Given the description of an element on the screen output the (x, y) to click on. 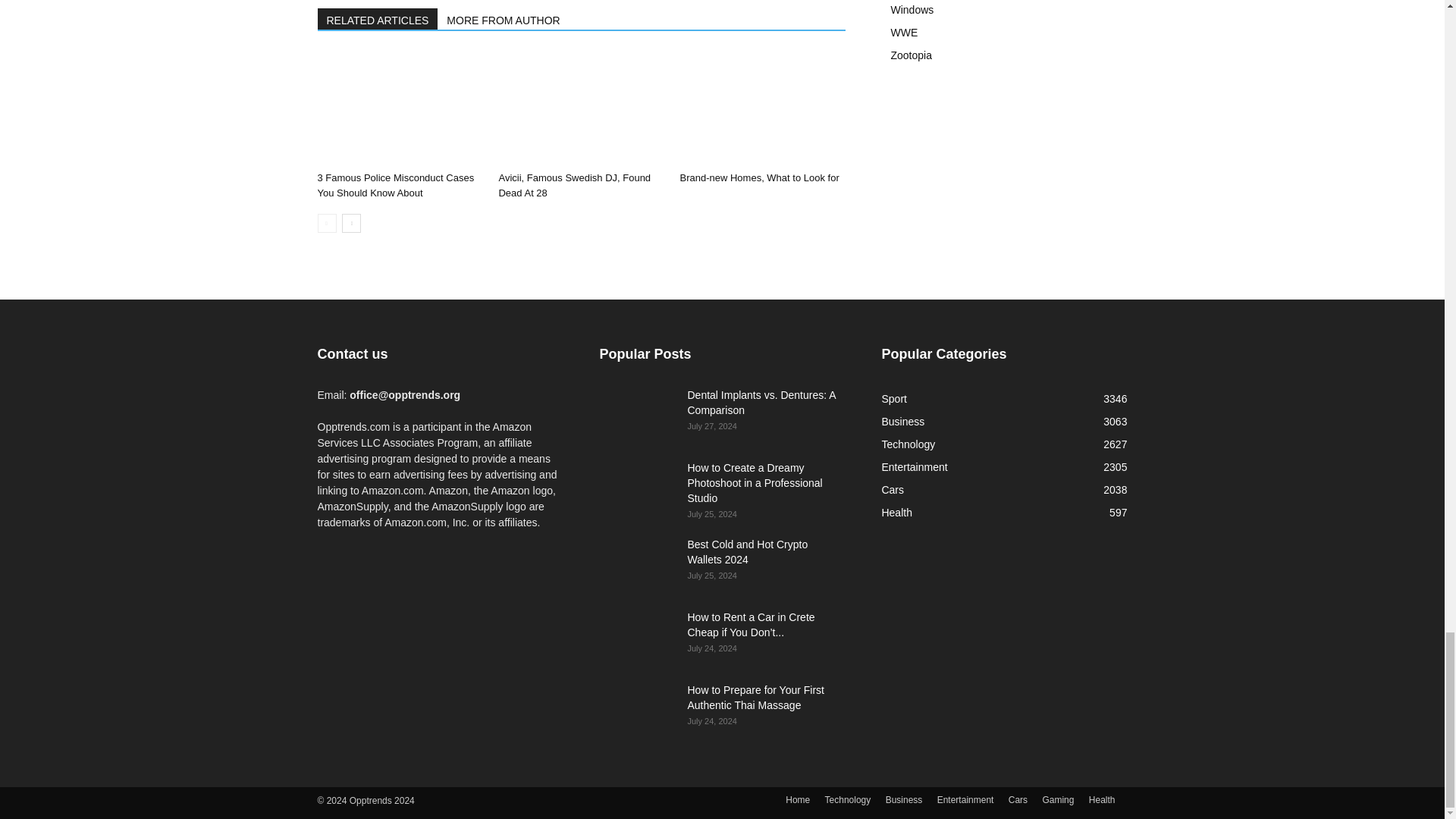
Avicii, Famous Swedish DJ, Found Dead At 28 (573, 185)
3 Famous Police Misconduct Cases You Should Know About (395, 185)
3 Famous Police Misconduct Cases You Should Know About (399, 108)
Avicii, Famous Swedish DJ, Found Dead At 28 (580, 108)
